Given the description of an element on the screen output the (x, y) to click on. 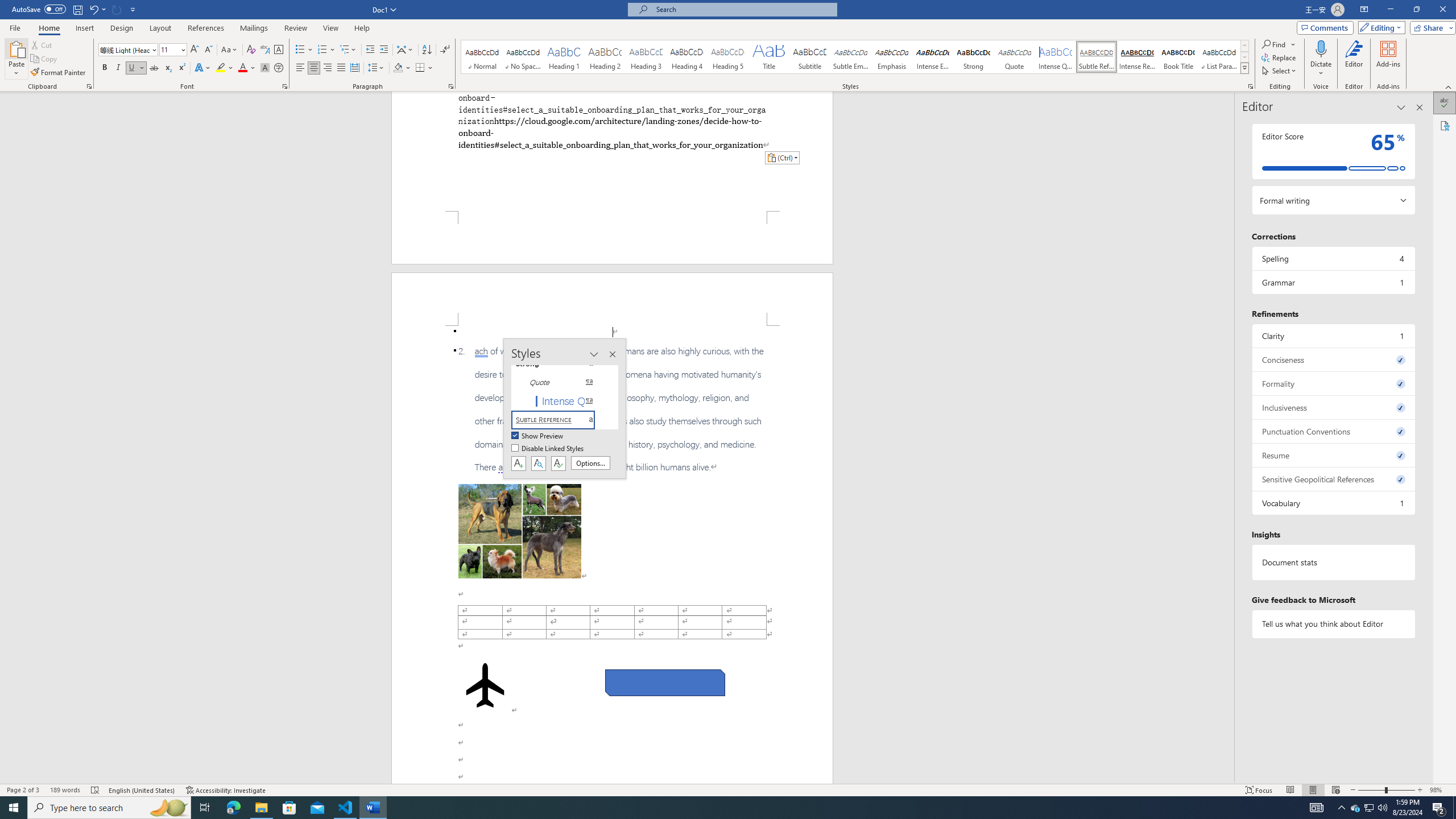
Page Number Page 2 of 3 (22, 790)
2. (611, 409)
